Given the description of an element on the screen output the (x, y) to click on. 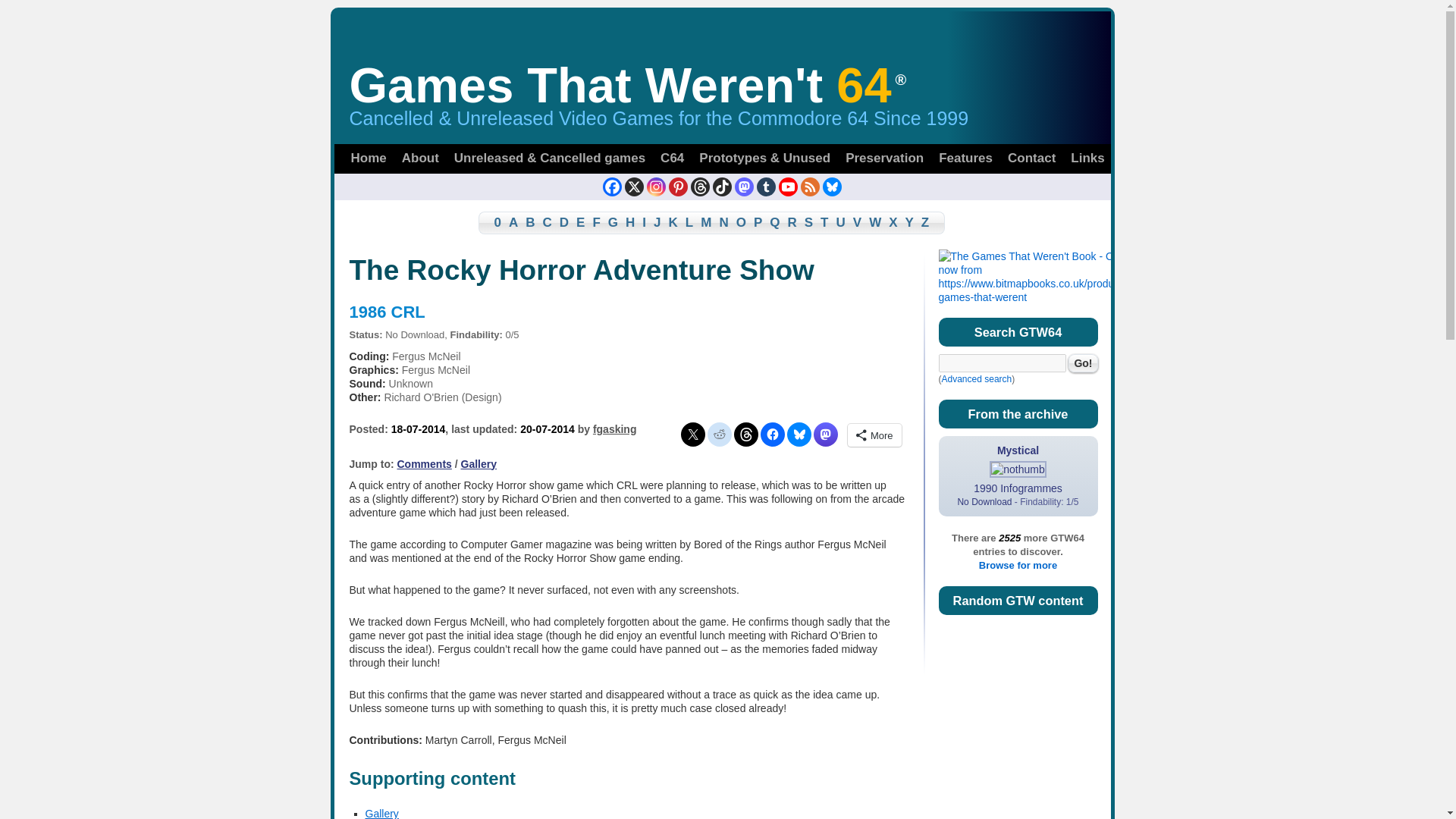
Pinterest (677, 186)
Facebook (611, 186)
General preservation work (884, 158)
Contact us or submit news (1031, 158)
About (420, 158)
Links (1087, 158)
Prototypes, Unused materials and early differences (764, 158)
Various other site features and interviews (965, 158)
X (633, 186)
Home (367, 158)
